Given the description of an element on the screen output the (x, y) to click on. 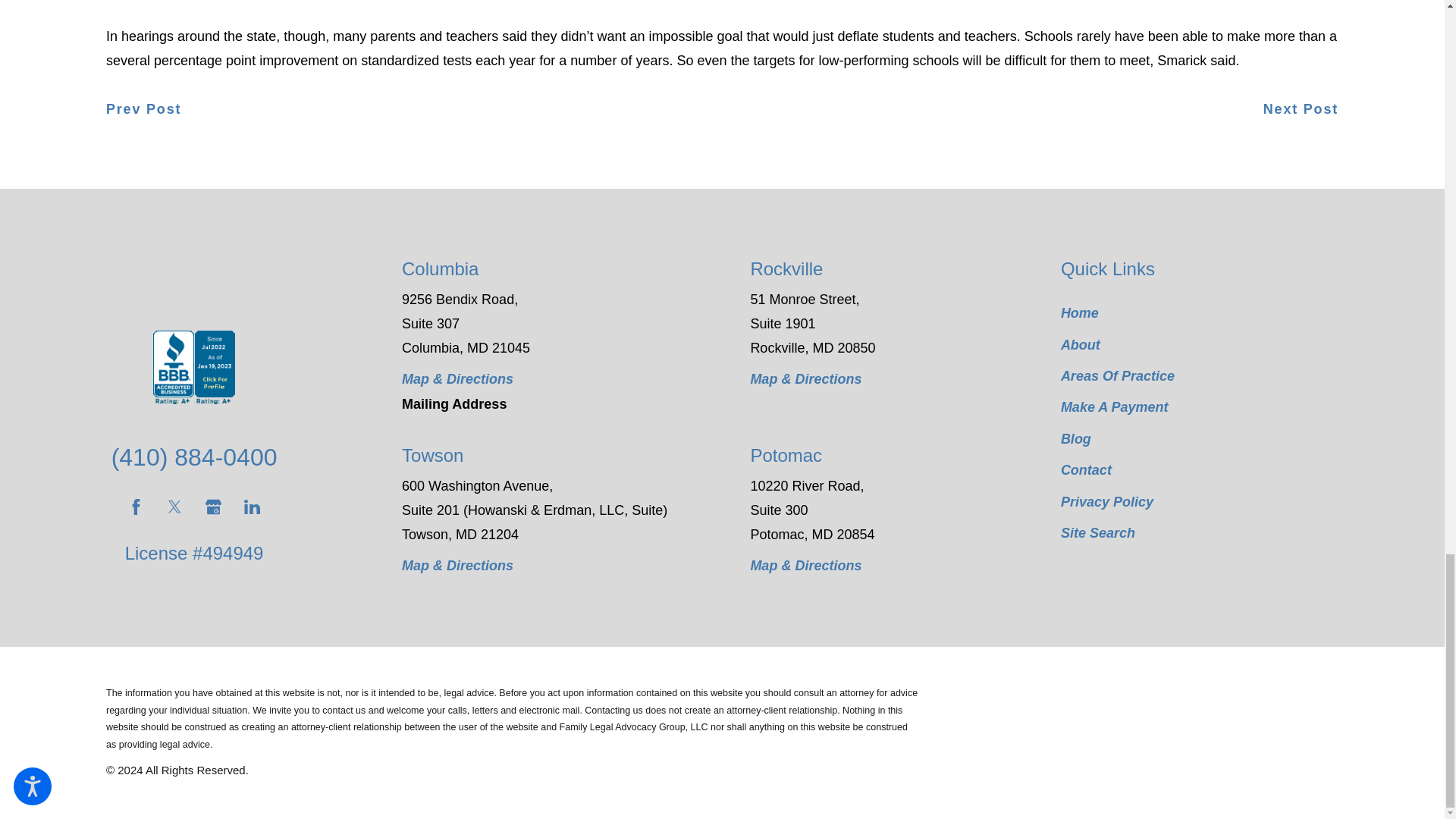
LinkedIn (252, 506)
Twitter (175, 506)
Facebook (136, 506)
Google Business Profile (213, 506)
